Given the description of an element on the screen output the (x, y) to click on. 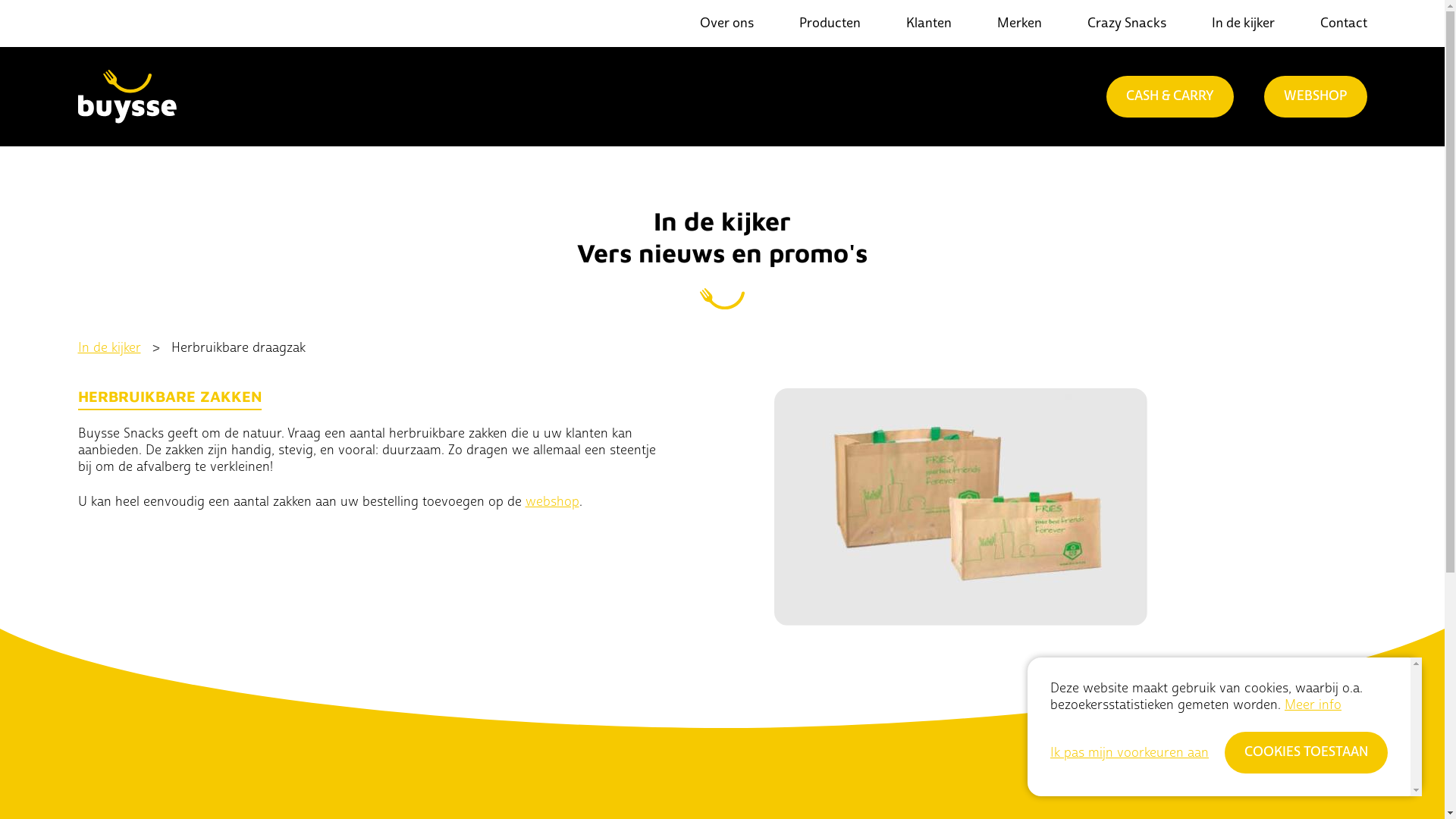
Merken Element type: text (1018, 22)
Crazy Snacks Element type: text (1126, 22)
WEBSHOP Element type: text (1314, 96)
In de kijker Element type: text (1242, 22)
Klanten Element type: text (927, 22)
Contact Element type: text (1342, 22)
In de kijker Element type: text (108, 347)
Over ons Element type: text (726, 22)
Ik pas mijn voorkeuren aan Element type: text (1129, 752)
webshop Element type: text (551, 501)
Producten Element type: text (829, 22)
COOKIES TOESTAAN Element type: text (1305, 752)
Meer info Element type: text (1312, 704)
Overslaan en naar de inhoud gaan Element type: text (0, 0)
CASH & CARRY Element type: text (1169, 96)
